Given the description of an element on the screen output the (x, y) to click on. 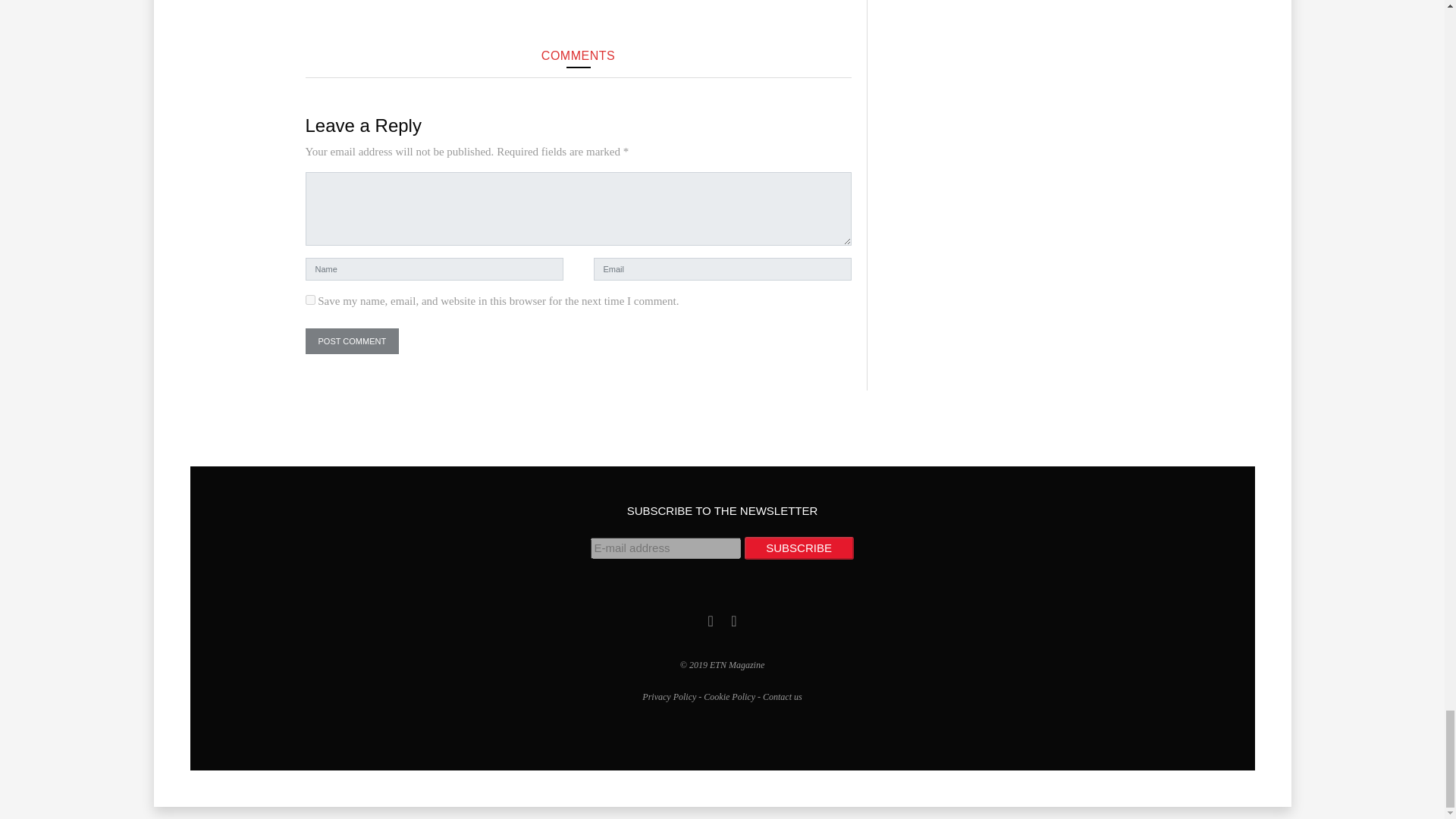
Post Comment (351, 341)
yes (309, 299)
SUBSCRIBE (798, 548)
